Given the description of an element on the screen output the (x, y) to click on. 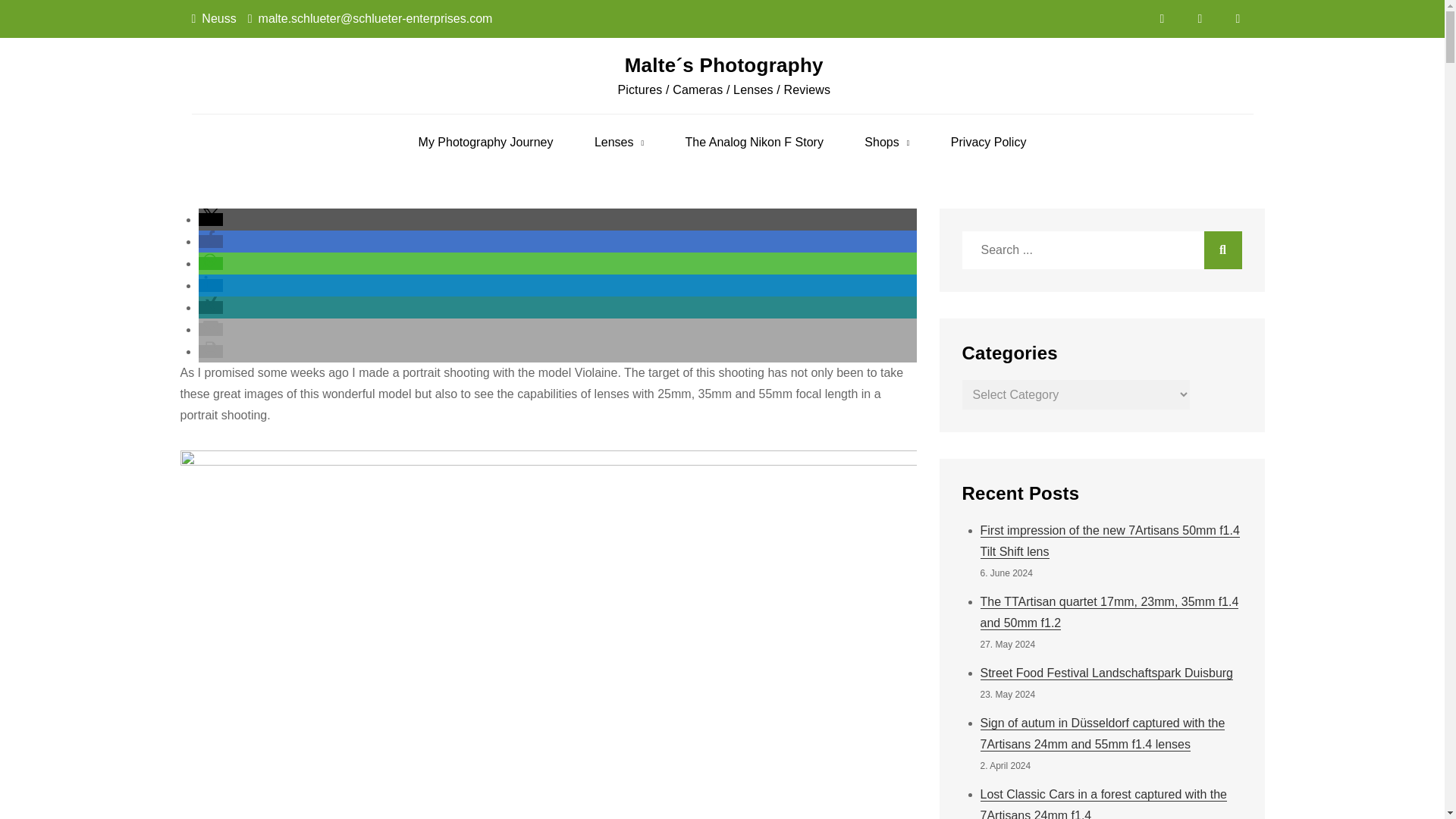
My Photography Journey (485, 142)
Bei X teilen (210, 219)
Bei XING teilen (210, 307)
Bei Facebook teilen (210, 241)
Search for: (1100, 249)
Bei Whatsapp teilen (210, 263)
drucken (210, 350)
Per E-Mail versenden (210, 328)
Bei LinkedIn teilen (210, 285)
Lenses (618, 142)
